Given the description of an element on the screen output the (x, y) to click on. 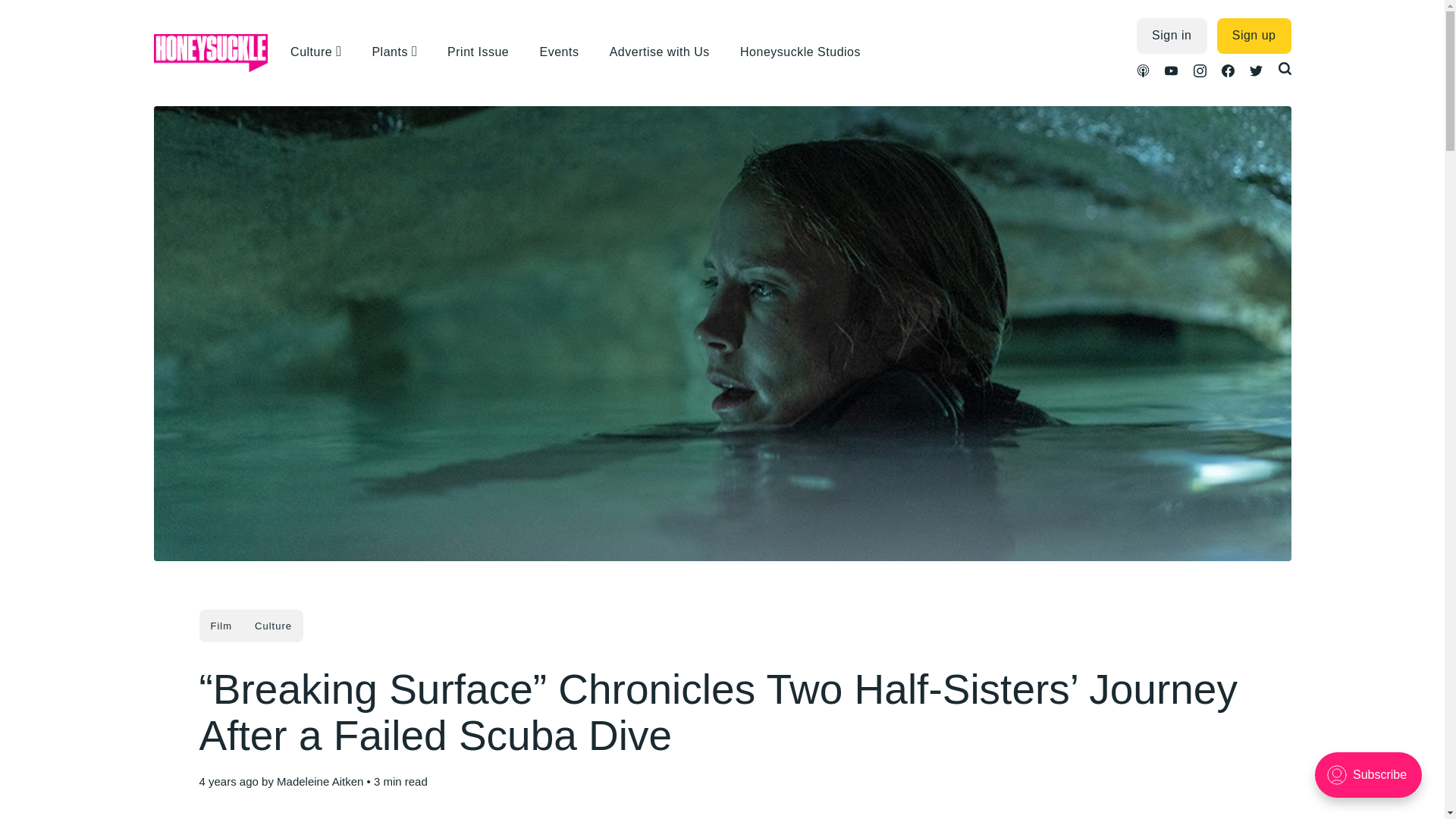
Culture (272, 625)
Plants (390, 52)
Events (566, 52)
Sign in (1172, 36)
Film (220, 625)
Madeleine Aitken (319, 780)
Culture (312, 52)
Honeysuckle Studios (807, 52)
Print Issue (485, 52)
Sign up (1254, 36)
Advertise with Us (667, 52)
